Given the description of an element on the screen output the (x, y) to click on. 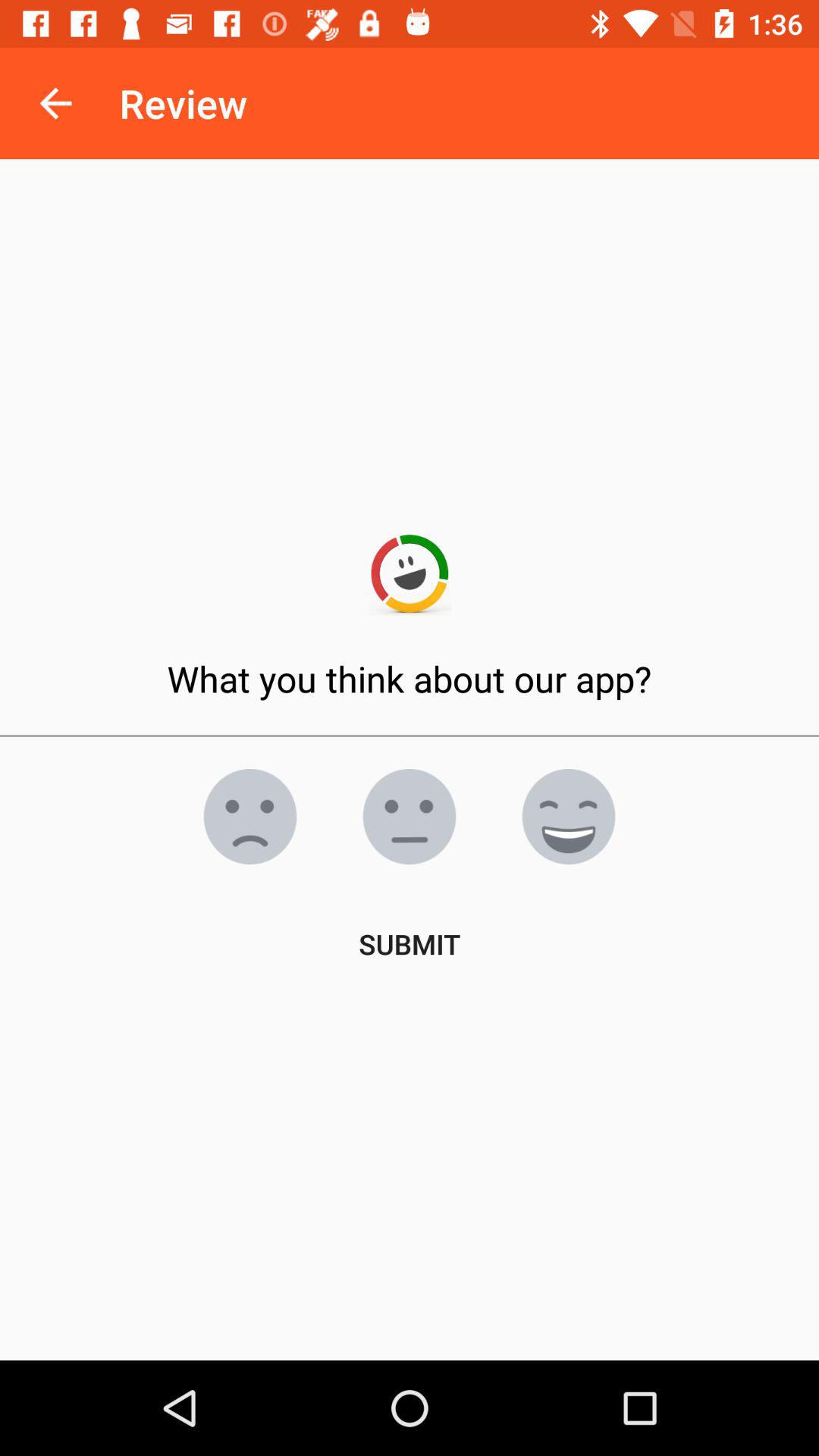
choose the item on the right (568, 816)
